Given the description of an element on the screen output the (x, y) to click on. 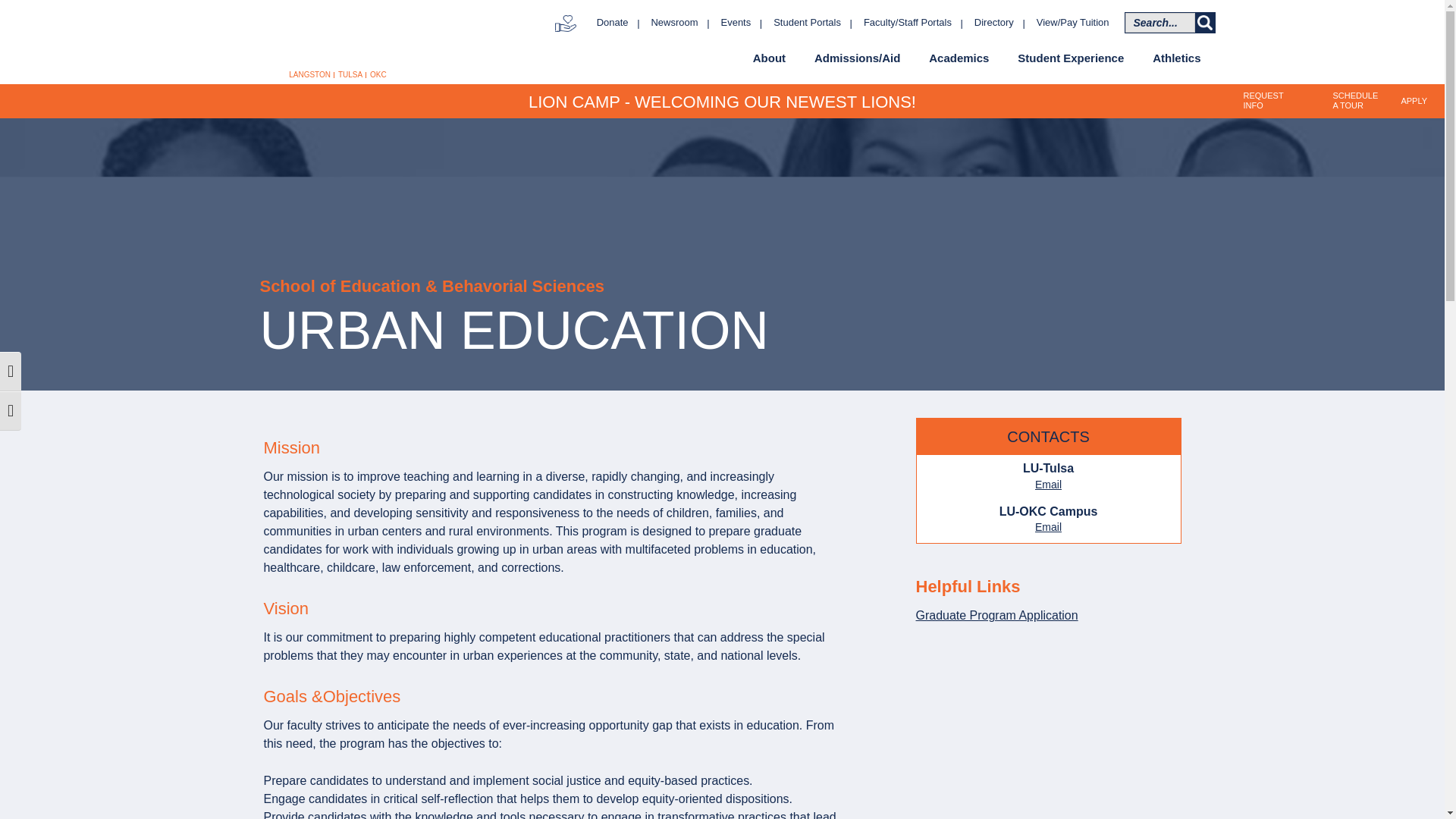
LANGSTON (309, 74)
Student Portals (806, 23)
Donate (612, 23)
TULSA (350, 74)
Newsroom (675, 23)
OKC (378, 74)
Langston University (325, 36)
Academics (958, 58)
Directory (993, 23)
Events (736, 23)
About (768, 58)
